Given the description of an element on the screen output the (x, y) to click on. 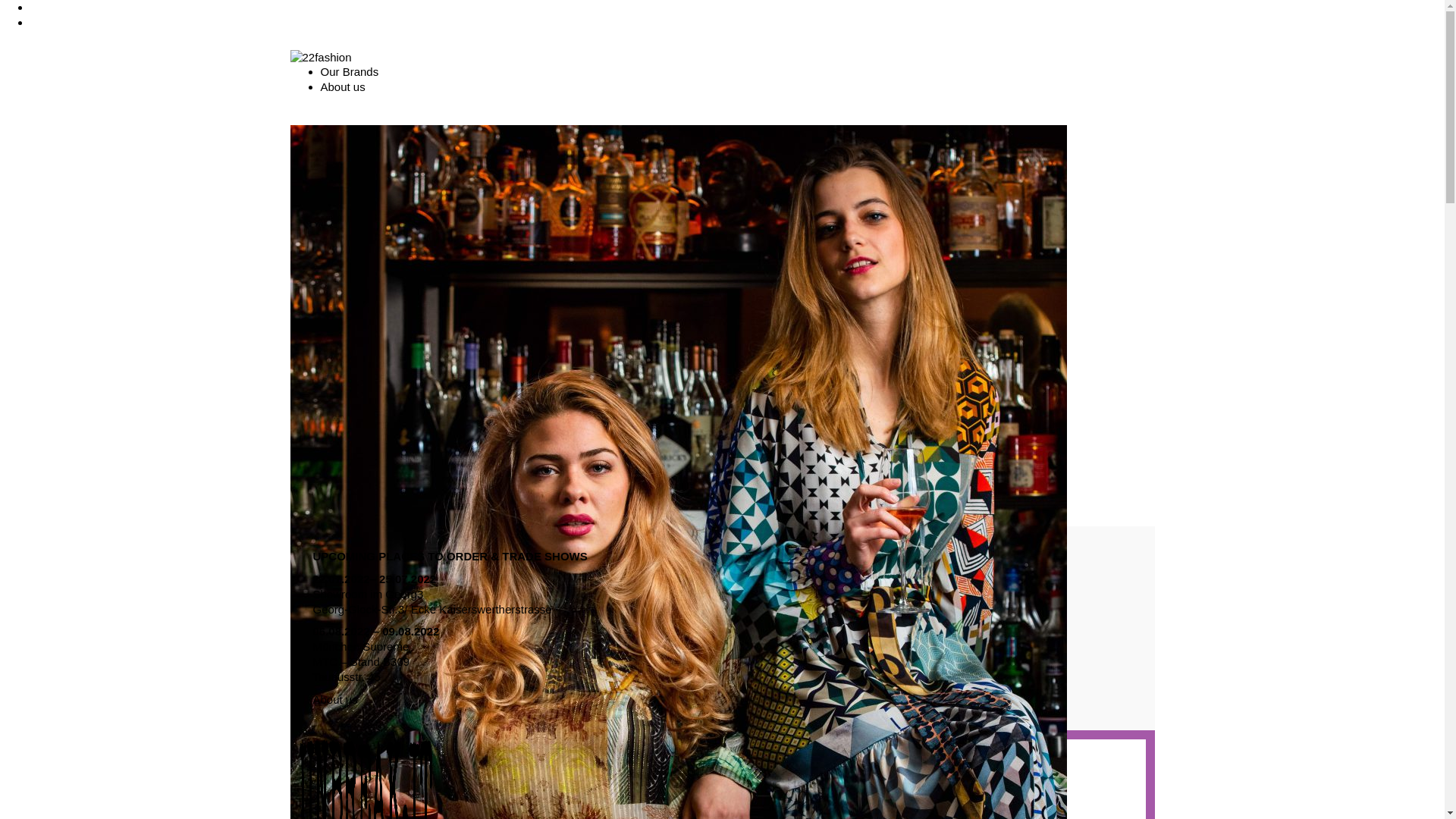
Our Brands Element type: text (349, 71)
About us Element type: text (334, 699)
About us Element type: text (342, 86)
